Given the description of an element on the screen output the (x, y) to click on. 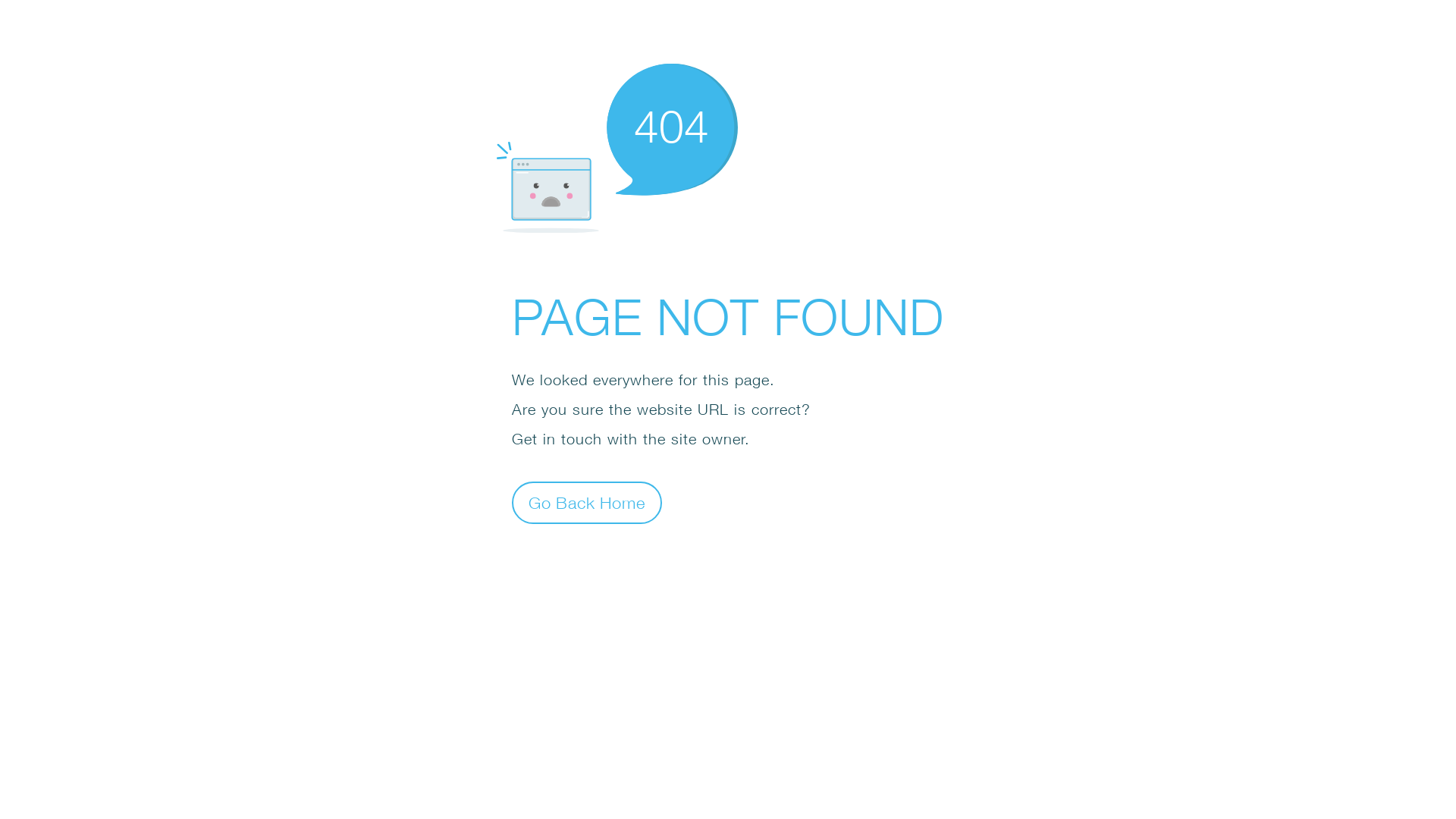
Go Back Home Element type: text (586, 502)
